Given the description of an element on the screen output the (x, y) to click on. 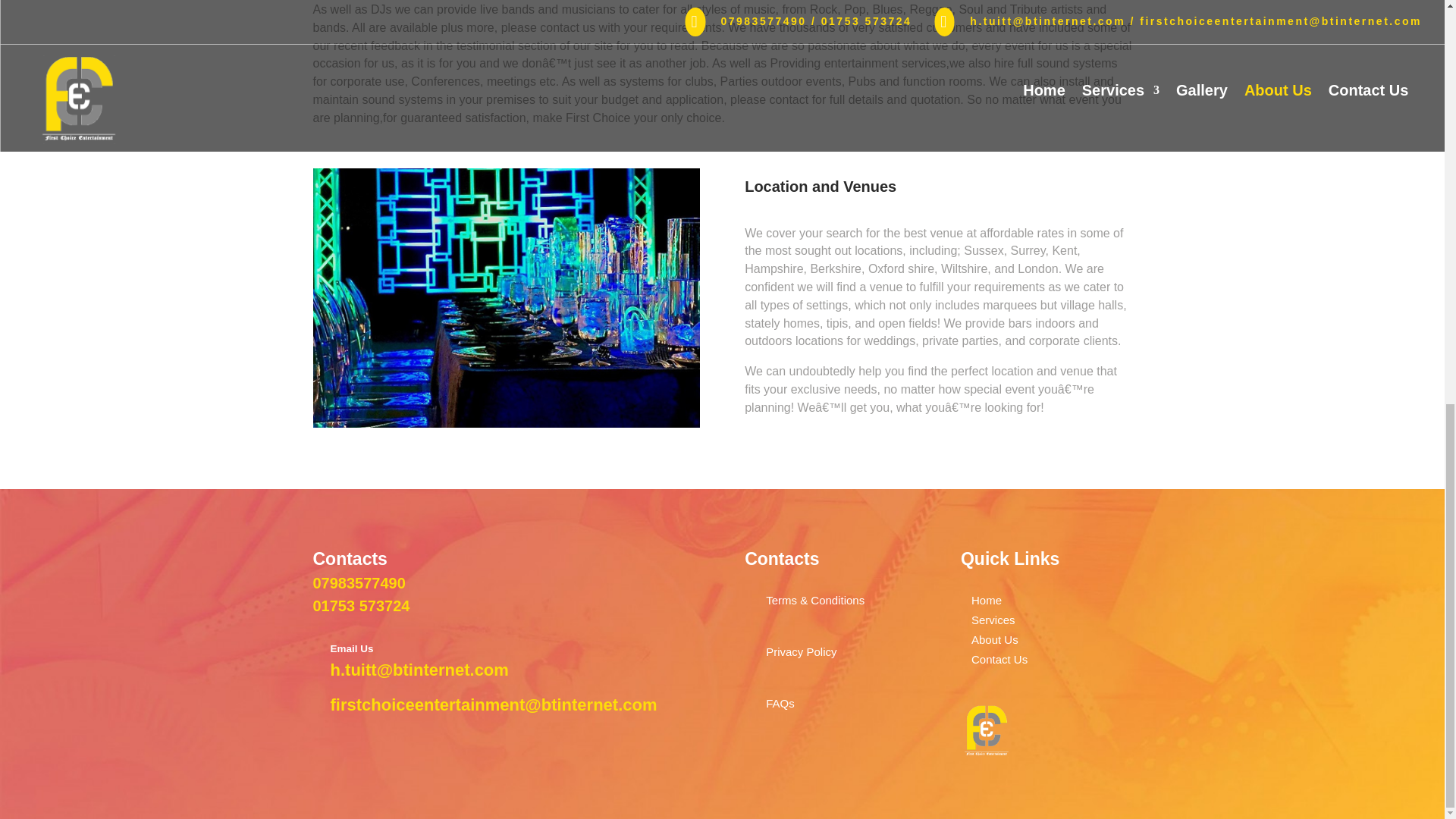
01753 573724 (361, 605)
07983577490 (358, 582)
58 (985, 729)
